Given the description of an element on the screen output the (x, y) to click on. 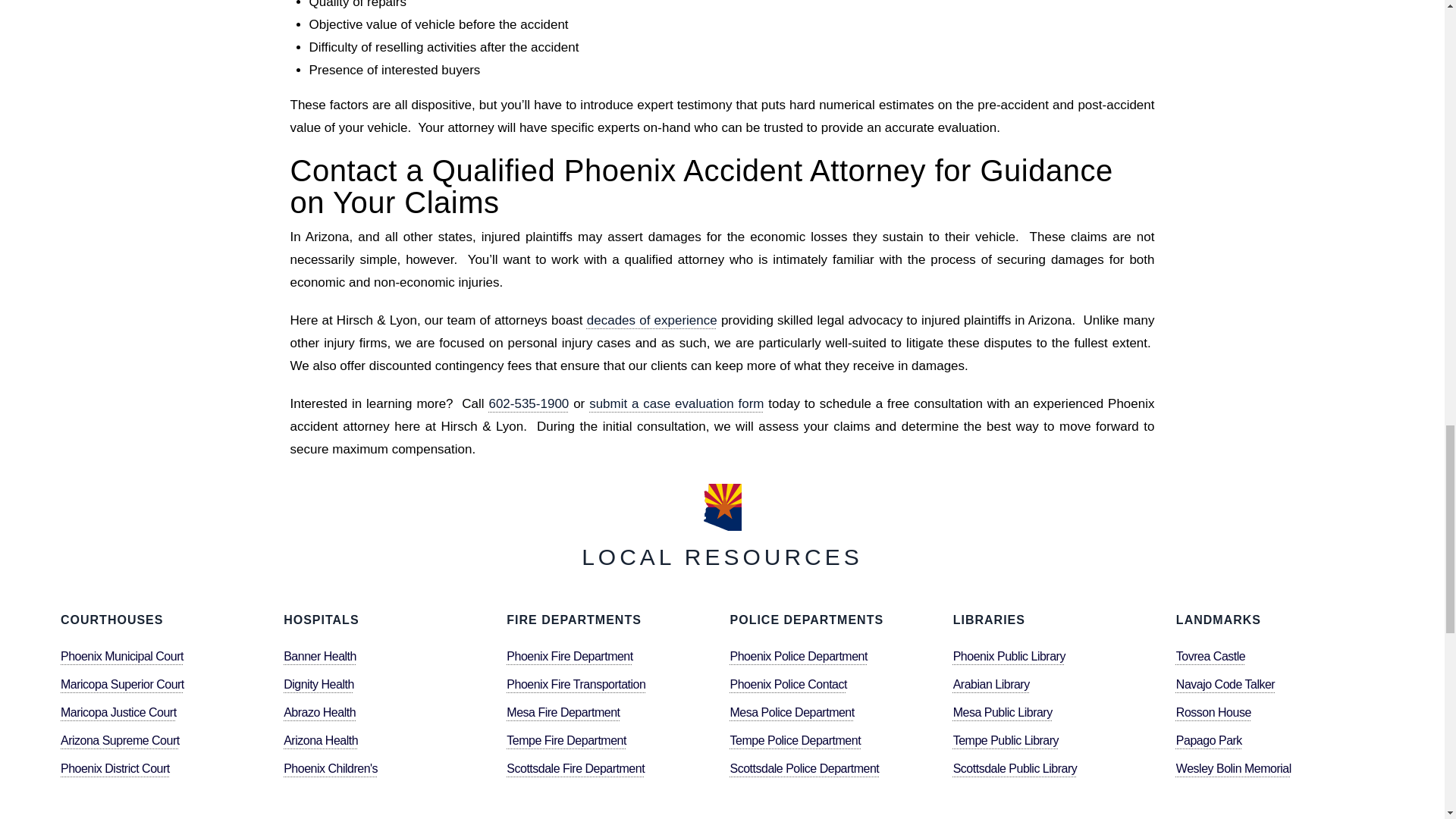
Tempe Fire Department (566, 739)
Phoenix Children's (330, 767)
submit a case evaluation form (675, 403)
Phoenix Police Department (798, 655)
Dignity Health (318, 683)
Phoenix Fire Transportation (575, 683)
Mesa Fire Department (563, 711)
Abrazo Health (319, 711)
decades of experience (651, 319)
Maricopa Justice Court (118, 711)
